Given the description of an element on the screen output the (x, y) to click on. 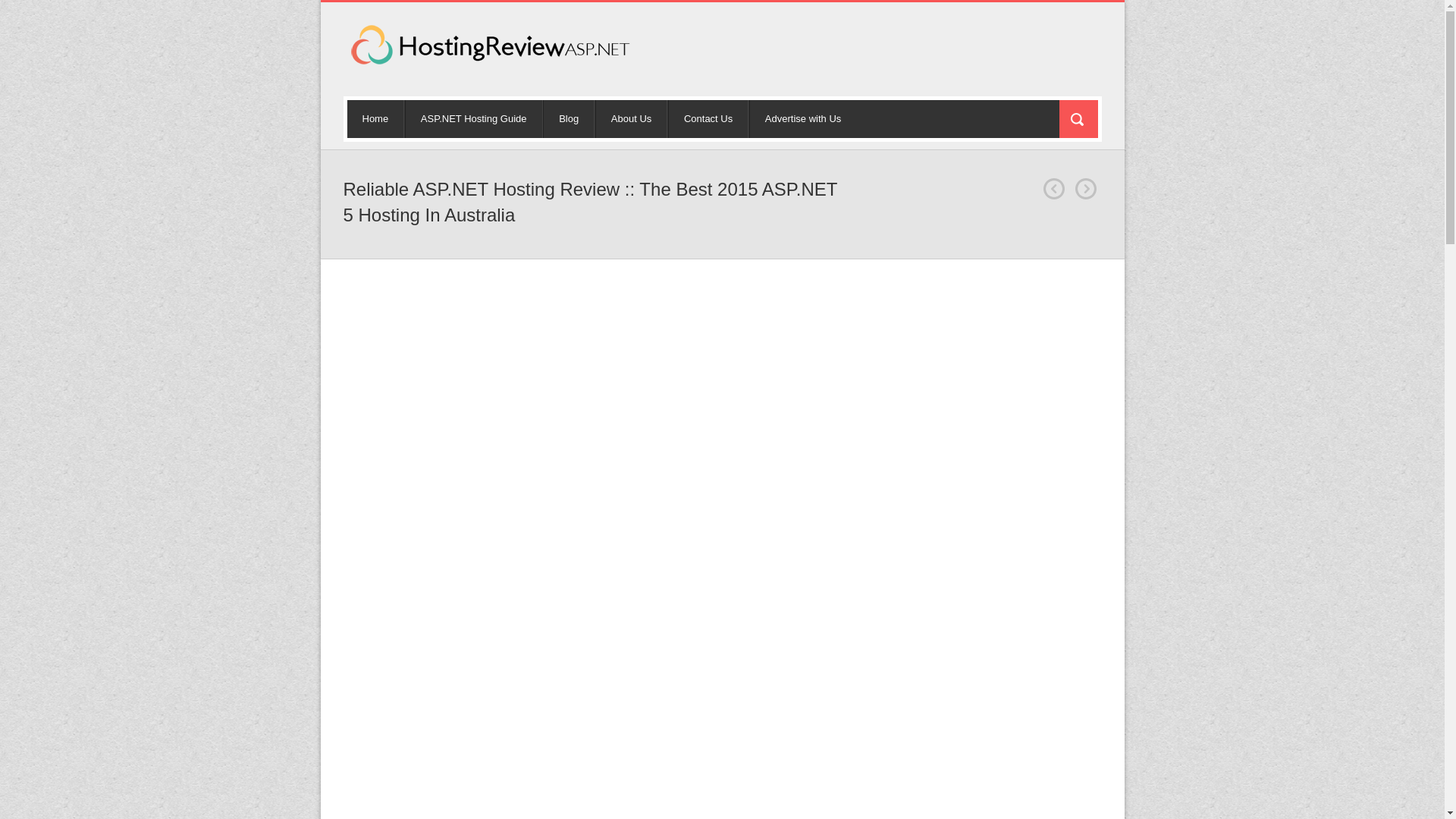
Home (375, 118)
ASP.NET Hosting Guide (473, 118)
Blog (568, 118)
About Us (630, 118)
Contact Us (708, 118)
Advertise with Us (802, 118)
